Given the description of an element on the screen output the (x, y) to click on. 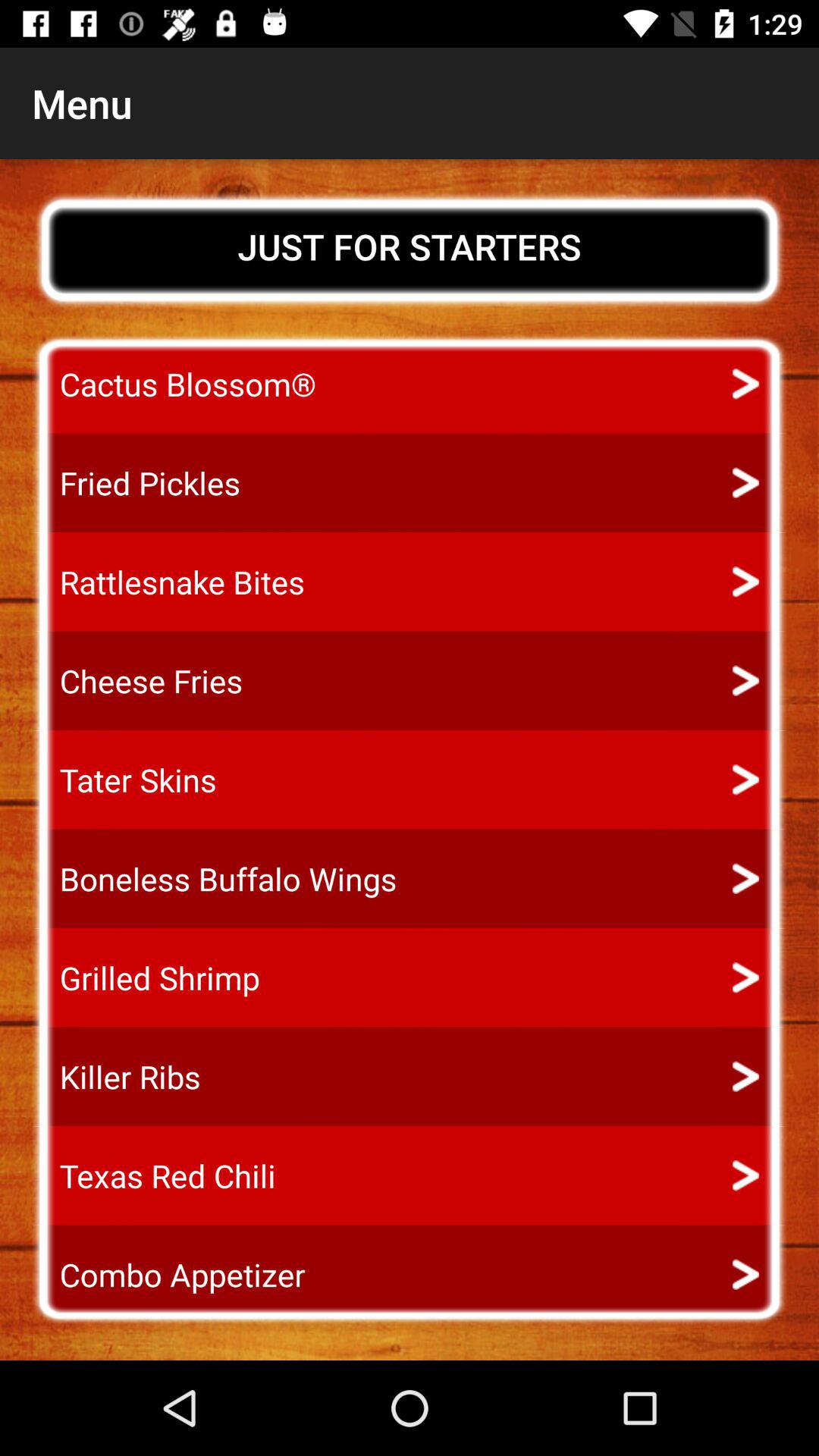
click item above killer ribs icon (145, 977)
